Given the description of an element on the screen output the (x, y) to click on. 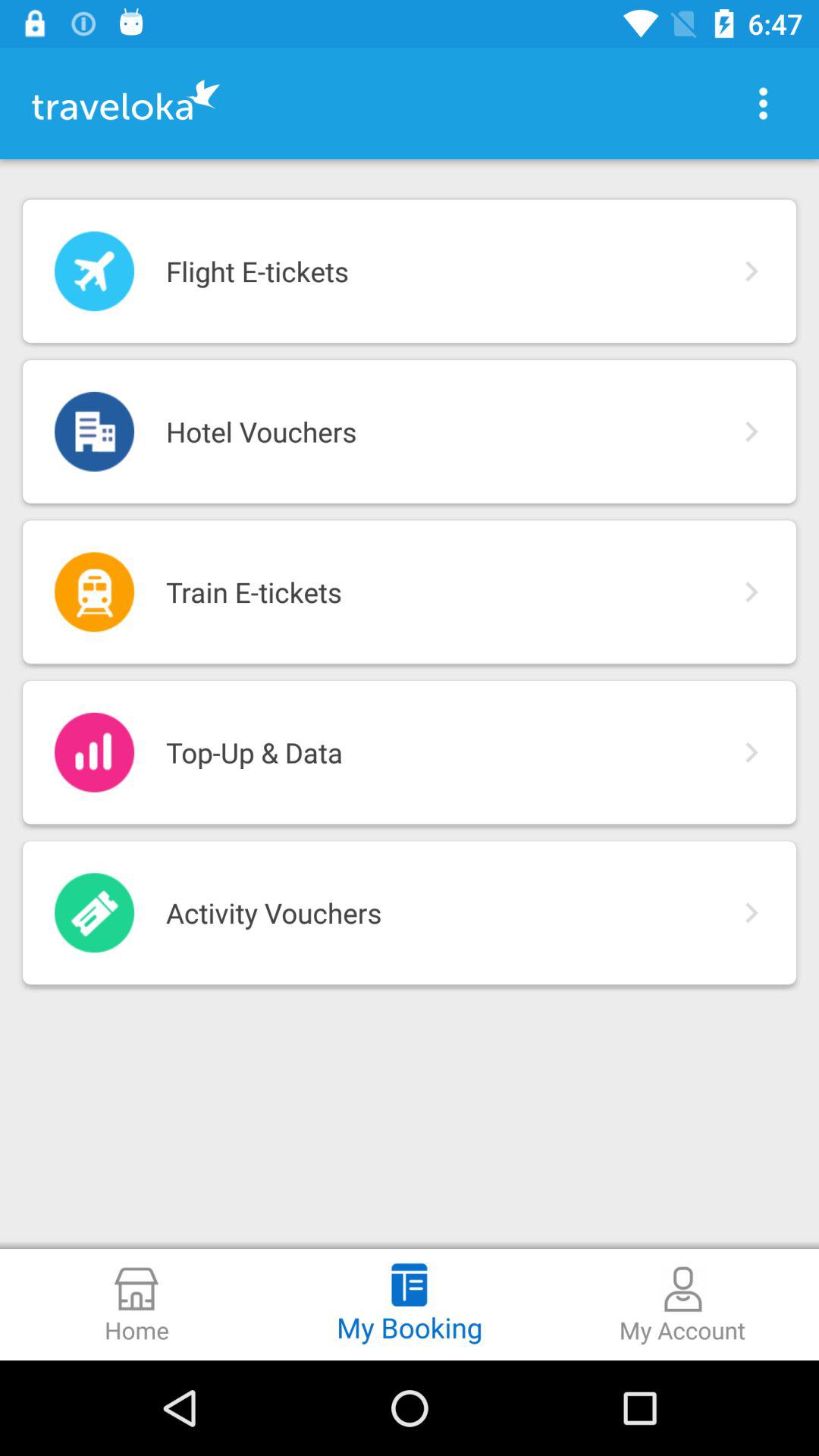
open menu options (763, 103)
